Given the description of an element on the screen output the (x, y) to click on. 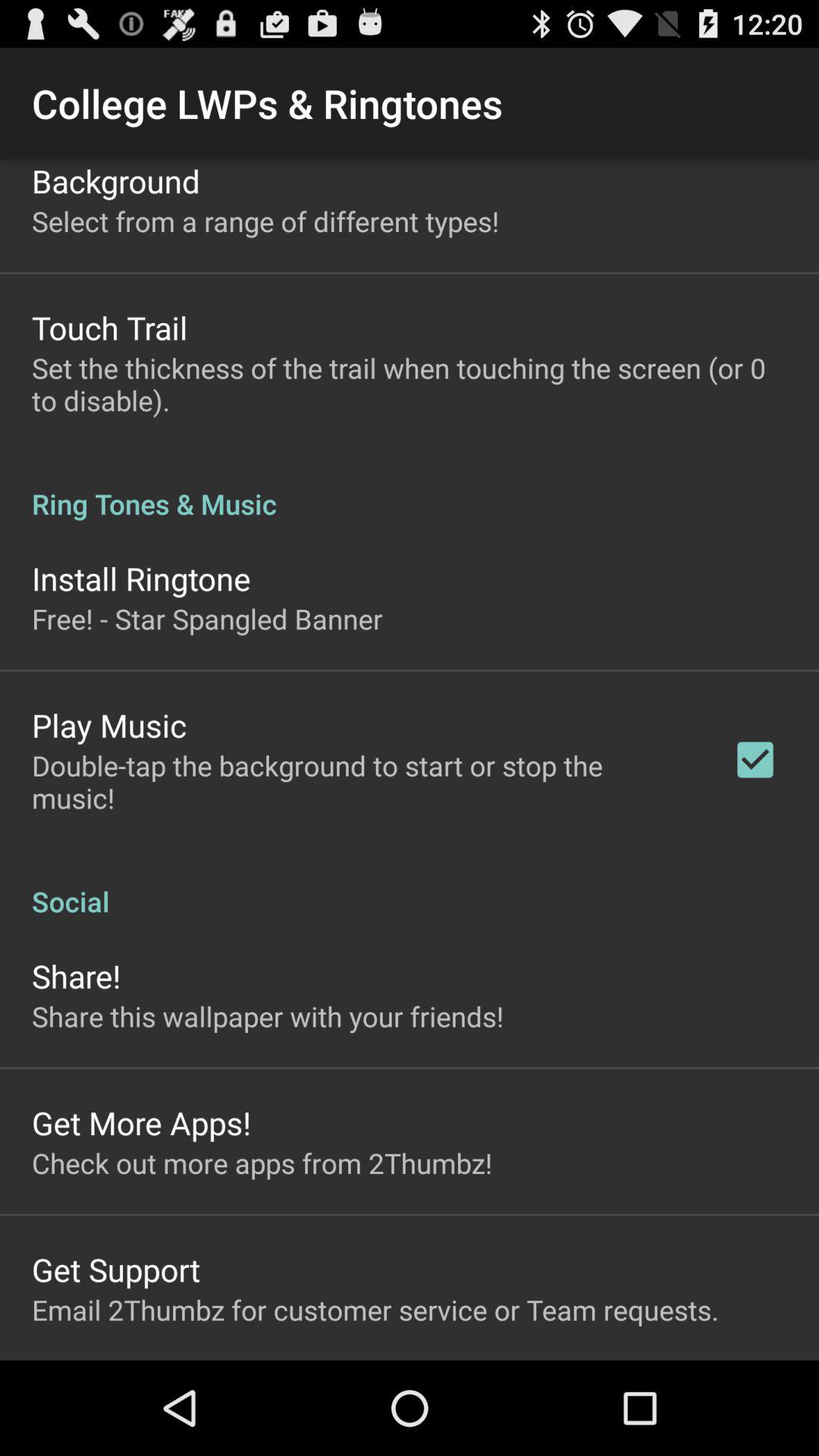
open icon below share! app (267, 1016)
